Given the description of an element on the screen output the (x, y) to click on. 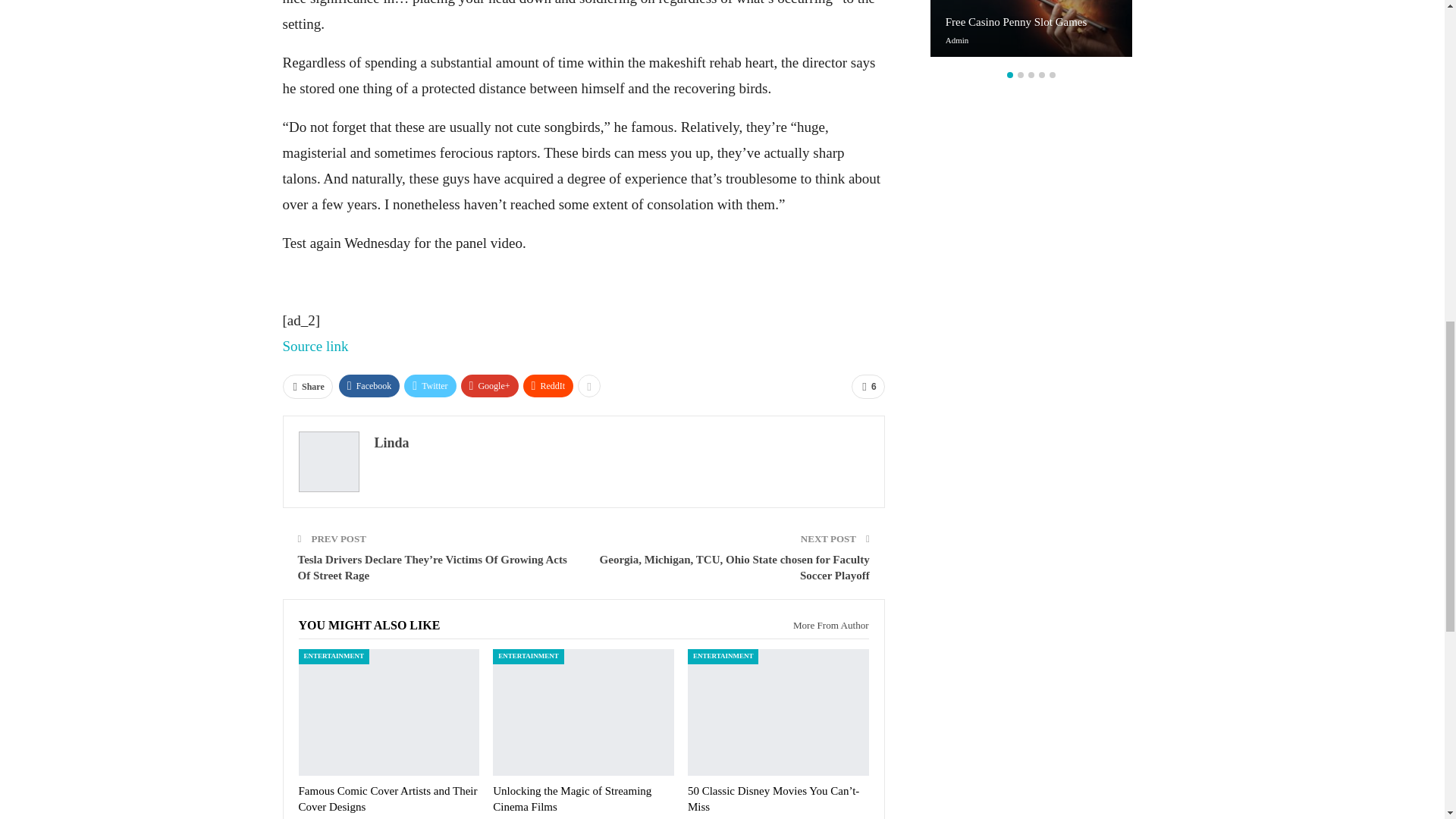
Famous Comic Cover Artists and Their Cover Designs (389, 712)
Unlocking the Magic of Streaming Cinema Films (571, 798)
Famous Comic Cover Artists and Their Cover Designs (387, 798)
Unlocking the Magic of Streaming Cinema Films (583, 712)
